Given the description of an element on the screen output the (x, y) to click on. 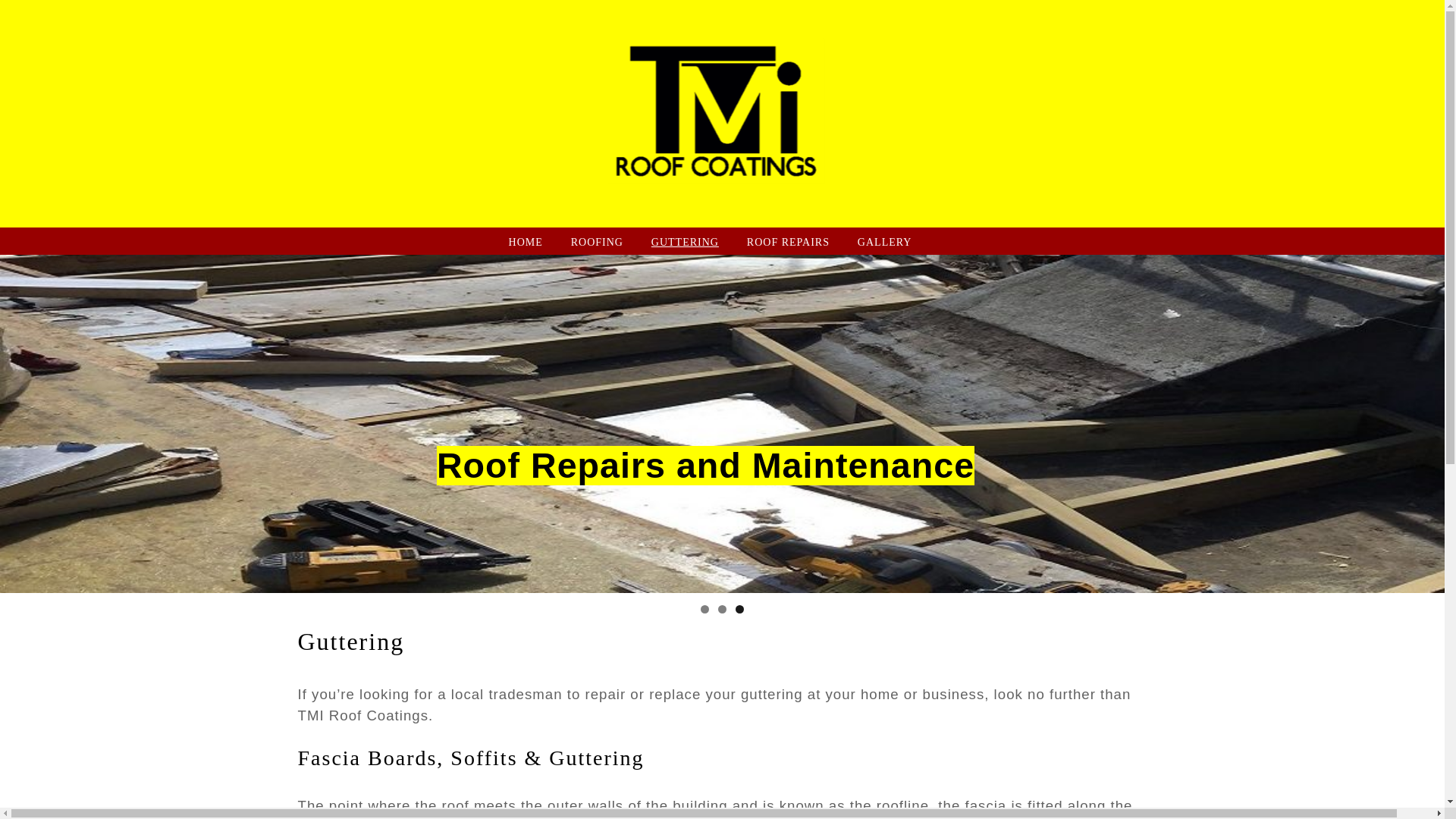
3 (739, 609)
2 (721, 609)
GALLERY (884, 240)
HOME (525, 240)
1 (704, 609)
ROOFING (596, 240)
ROOF REPAIRS (787, 240)
GUTTERING (684, 240)
TMI Roof Coatings (726, 218)
